Given the description of an element on the screen output the (x, y) to click on. 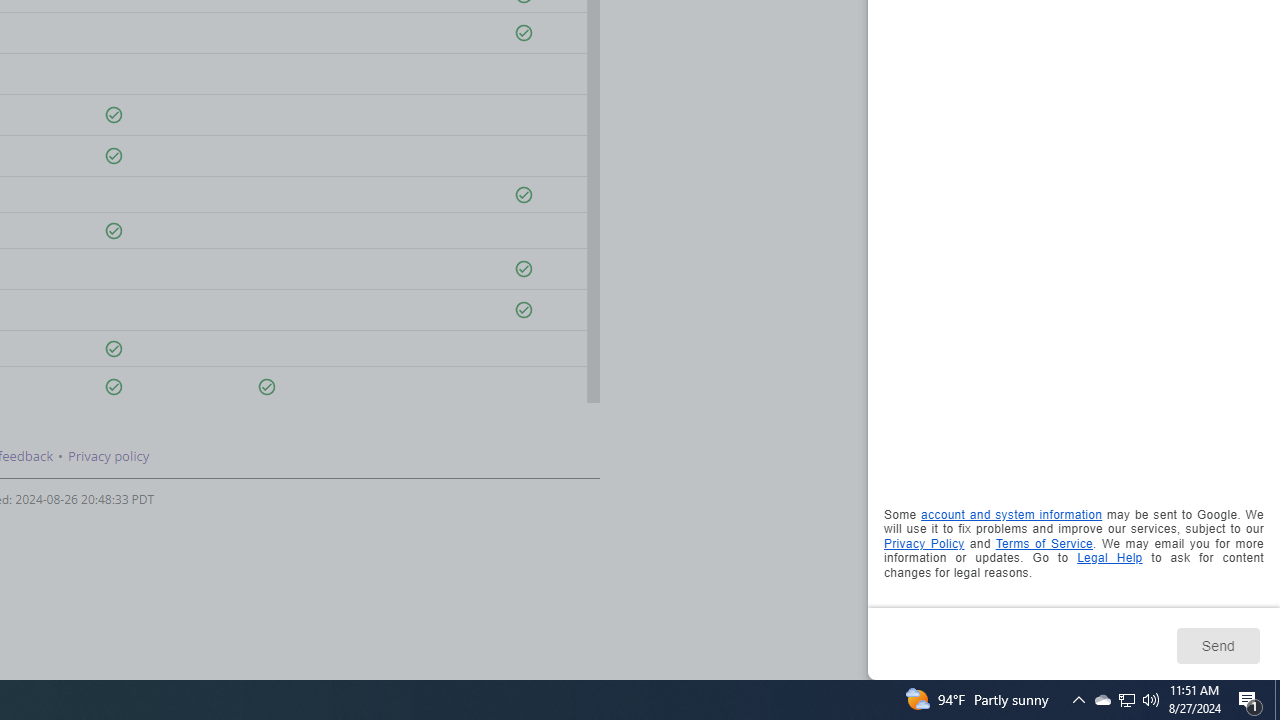
Send (1217, 645)
Opens in a new tab. Privacy Policy (924, 542)
Opens in a new tab. Terms of Service (1044, 542)
Privacy policy (107, 456)
account and system information (1012, 515)
Opens in a new tab. Legal Help (1109, 557)
Available status (267, 387)
